Given the description of an element on the screen output the (x, y) to click on. 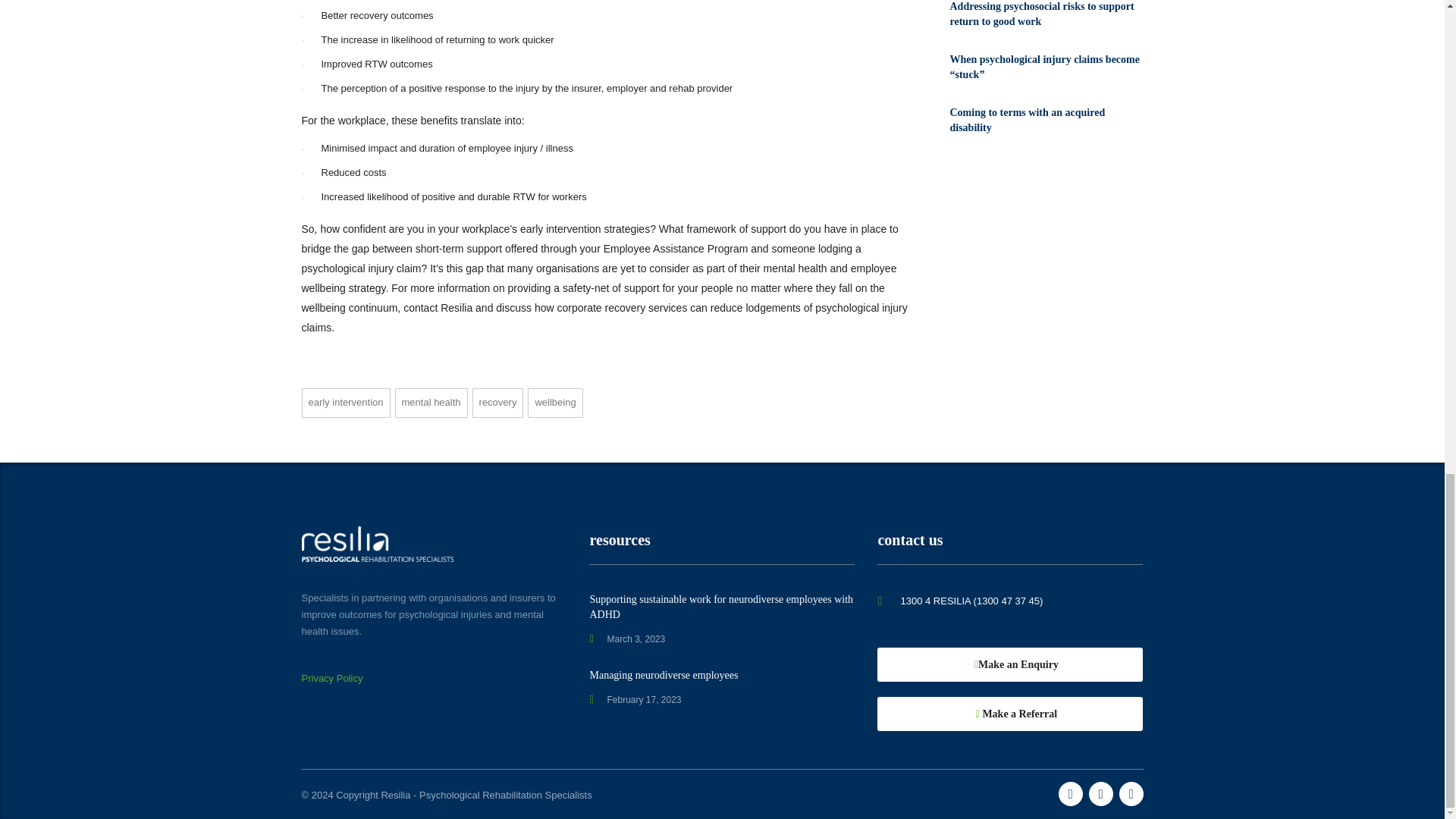
wellbeing (554, 402)
recovery (497, 402)
Make and Enquiry (1009, 664)
Make a Referral (1009, 713)
early intervention (345, 402)
mental health (430, 402)
